Given the description of an element on the screen output the (x, y) to click on. 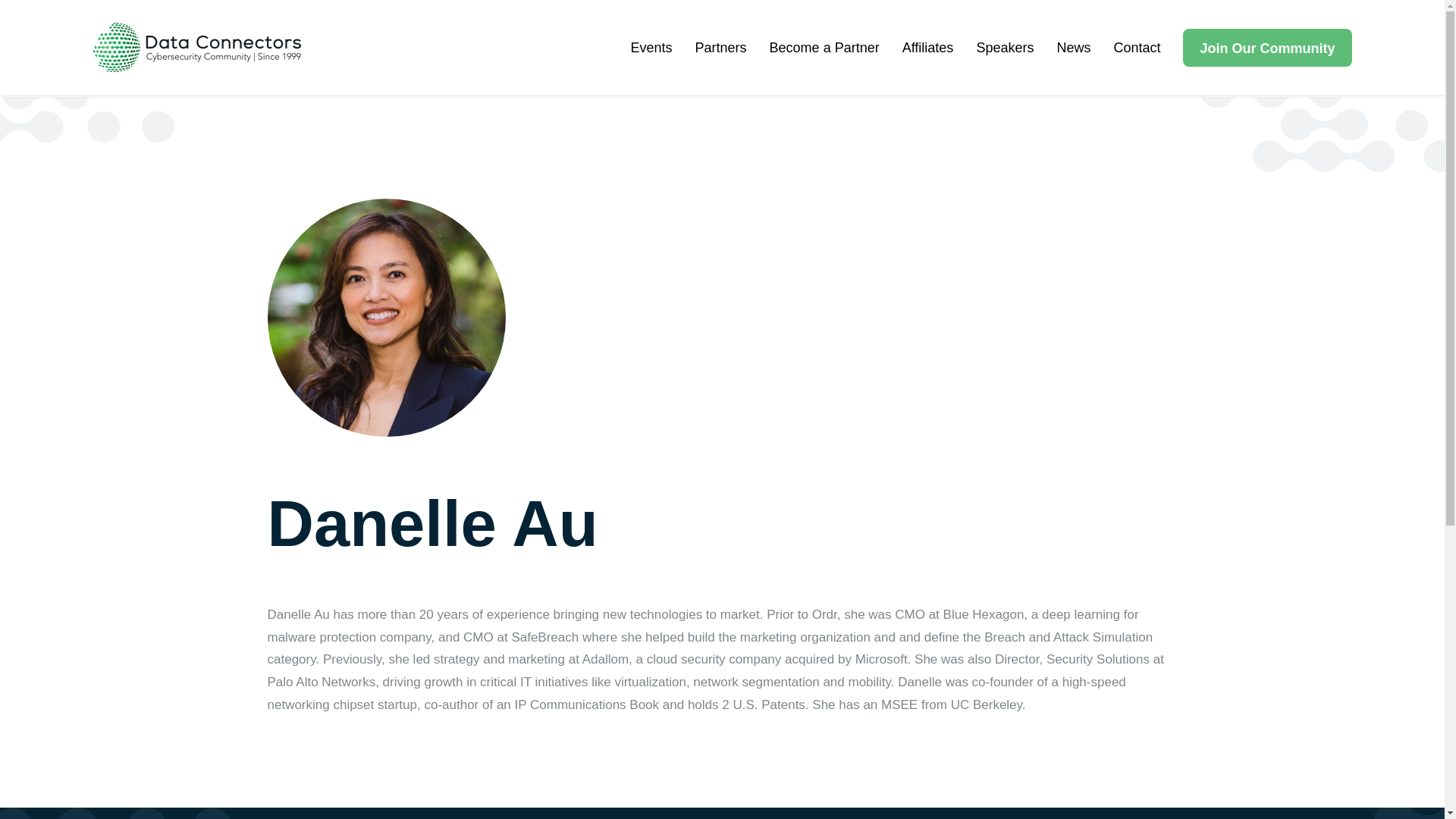
Affiliates (927, 48)
Speakers (1004, 48)
Become a Partner (824, 48)
Join Our Community (1266, 47)
Contact (1136, 48)
Partners (720, 48)
Events (651, 48)
News (1073, 48)
